Given the description of an element on the screen output the (x, y) to click on. 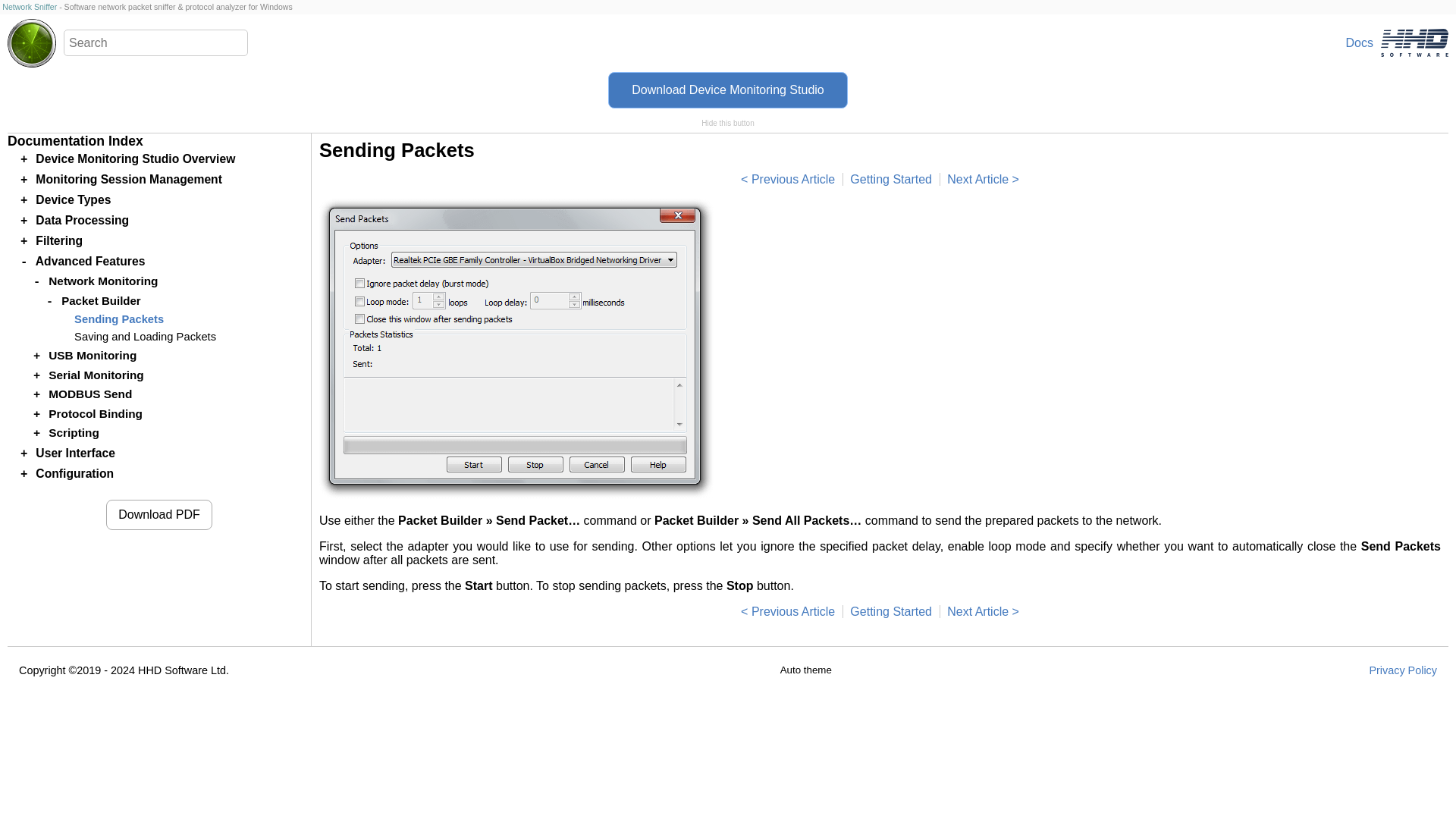
Device Monitoring Studio Overview (134, 158)
Packet Builder (787, 611)
All Documentation (1346, 42)
Next Article (983, 611)
Previous Article (787, 178)
Getting Started (890, 178)
Previous Article (787, 611)
Device Monitoring Studio Overview (134, 158)
Next Article (983, 178)
Network Sniffer (29, 6)
HHD Software Ltd. (1414, 42)
Docs (1346, 42)
Download Device Monitoring Studio (727, 90)
Device Monitoring Studio Overview (890, 611)
Getting Started (890, 611)
